Given the description of an element on the screen output the (x, y) to click on. 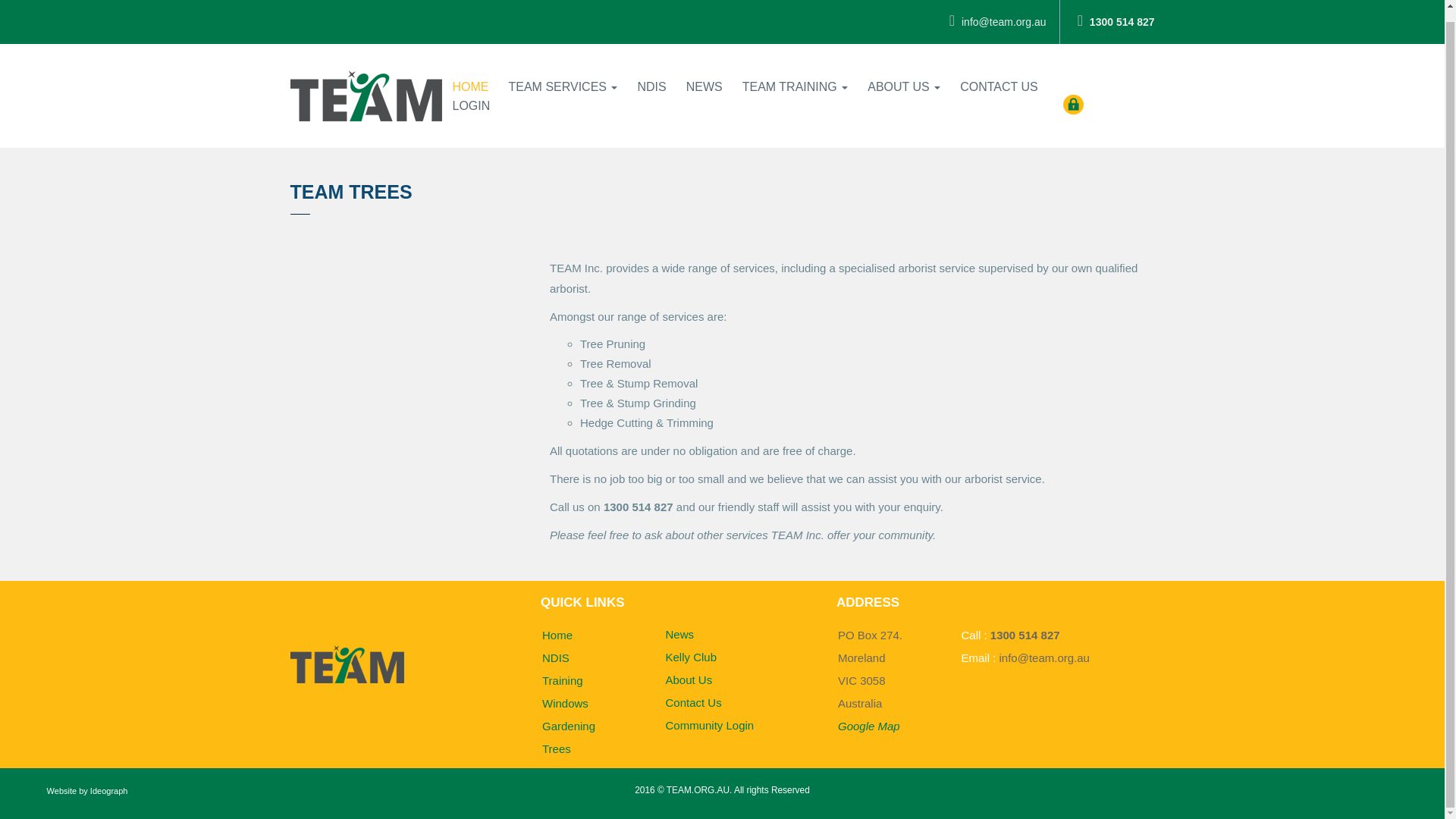
LOGIN (471, 94)
CONTACT US (999, 75)
NDIS (555, 657)
Home (556, 634)
News (679, 634)
Windows (564, 703)
Training (562, 680)
HOME (470, 75)
1300 514 827 (1115, 16)
TEAM SERVICES (563, 75)
1300 514 827 (1024, 634)
NEWS (704, 75)
Gardening (568, 725)
Google Map (868, 725)
ABOUT US (903, 75)
